Given the description of an element on the screen output the (x, y) to click on. 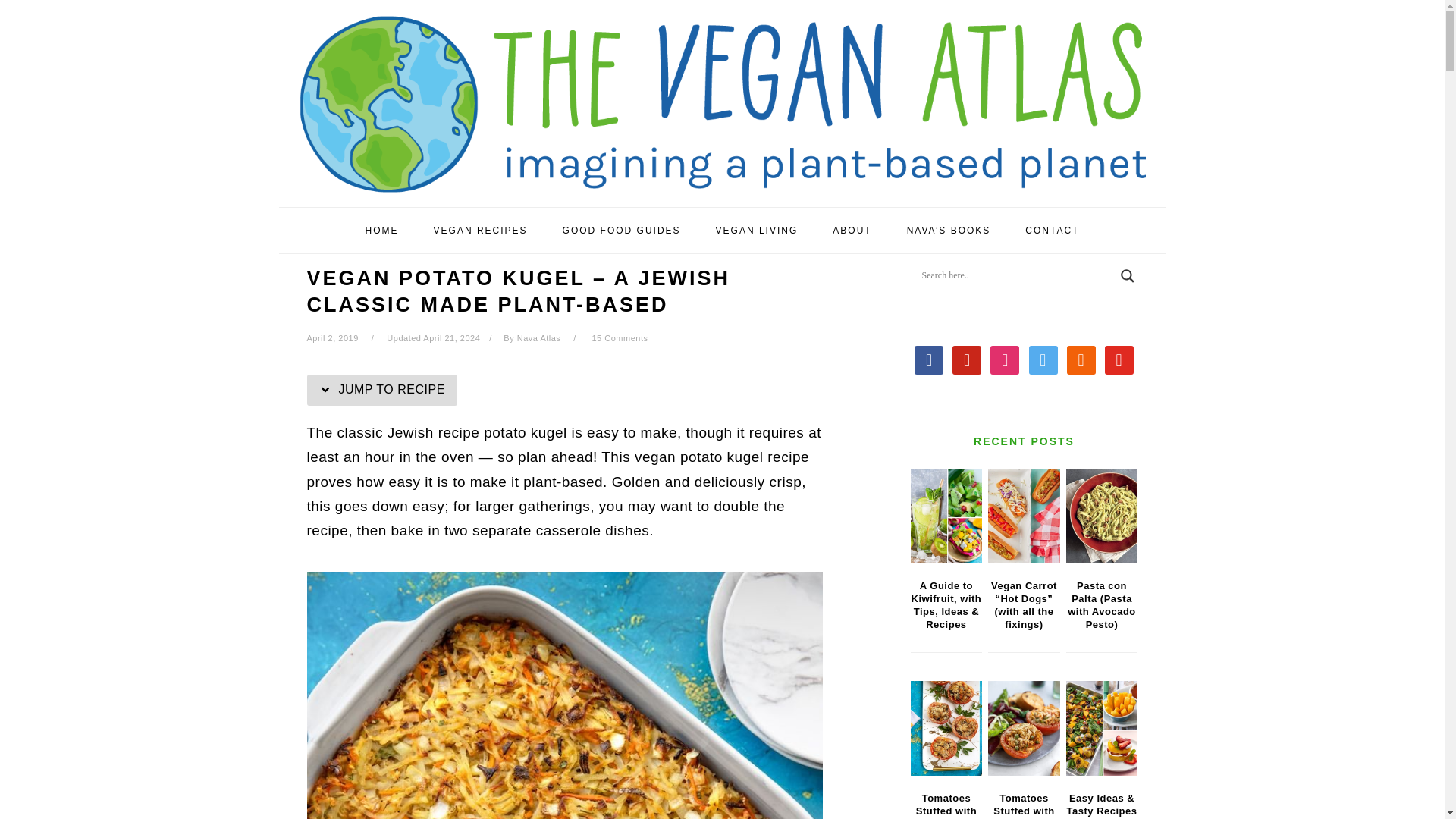
VEGAN RECIPES (480, 230)
ABOUT (851, 230)
GOOD FOOD GUIDES (621, 230)
Tomatoes Stuffed with Curried Eggplant (945, 728)
The Vegan Atlas (722, 183)
Nava Atlas (538, 338)
15 Comments (619, 338)
Twitter (1043, 358)
HOME (381, 230)
CONTACT (1052, 230)
Default Label (1119, 358)
Facebook (928, 358)
Default Label (1081, 358)
